Given the description of an element on the screen output the (x, y) to click on. 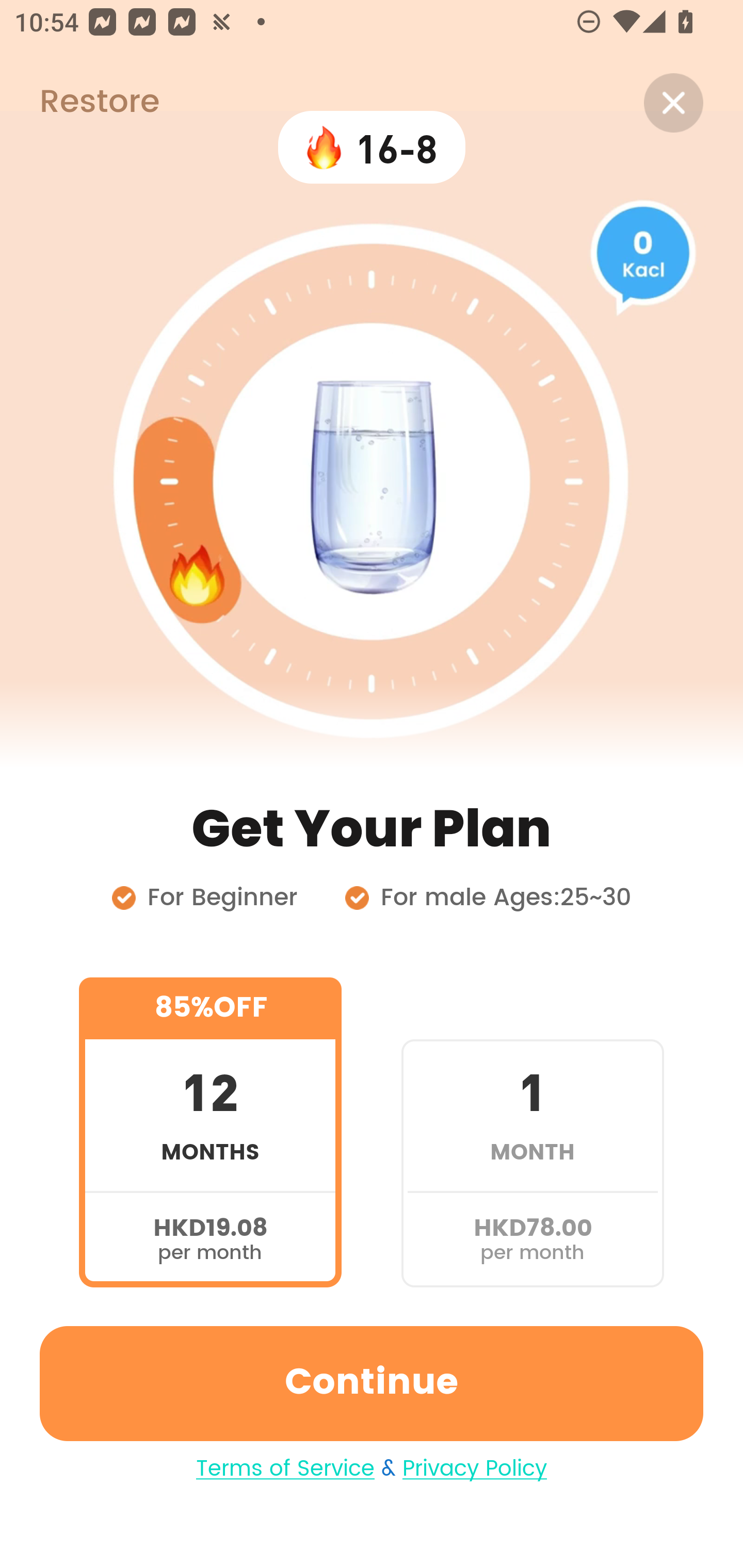
Restore (79, 102)
85%OFF 12 MONTHS per month HKD19.08 (209, 1131)
1 MONTH per month HKD78.00 (532, 1131)
Continue (371, 1383)
